Given the description of an element on the screen output the (x, y) to click on. 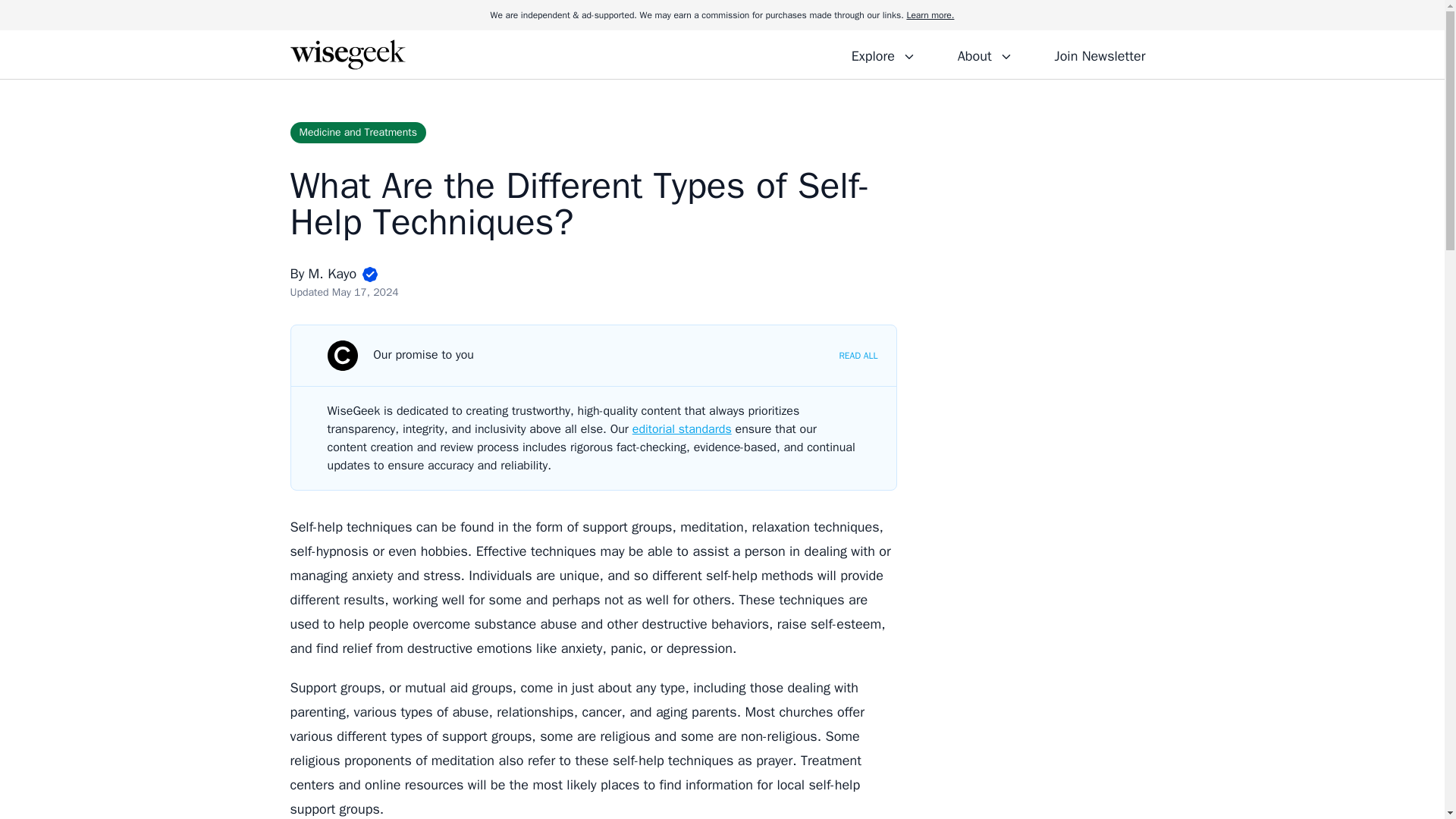
editorial standards (681, 429)
Explore (883, 54)
Learn more. (929, 15)
Medicine and Treatments (357, 132)
About (984, 54)
READ ALL (857, 355)
Join Newsletter (1099, 54)
